Given the description of an element on the screen output the (x, y) to click on. 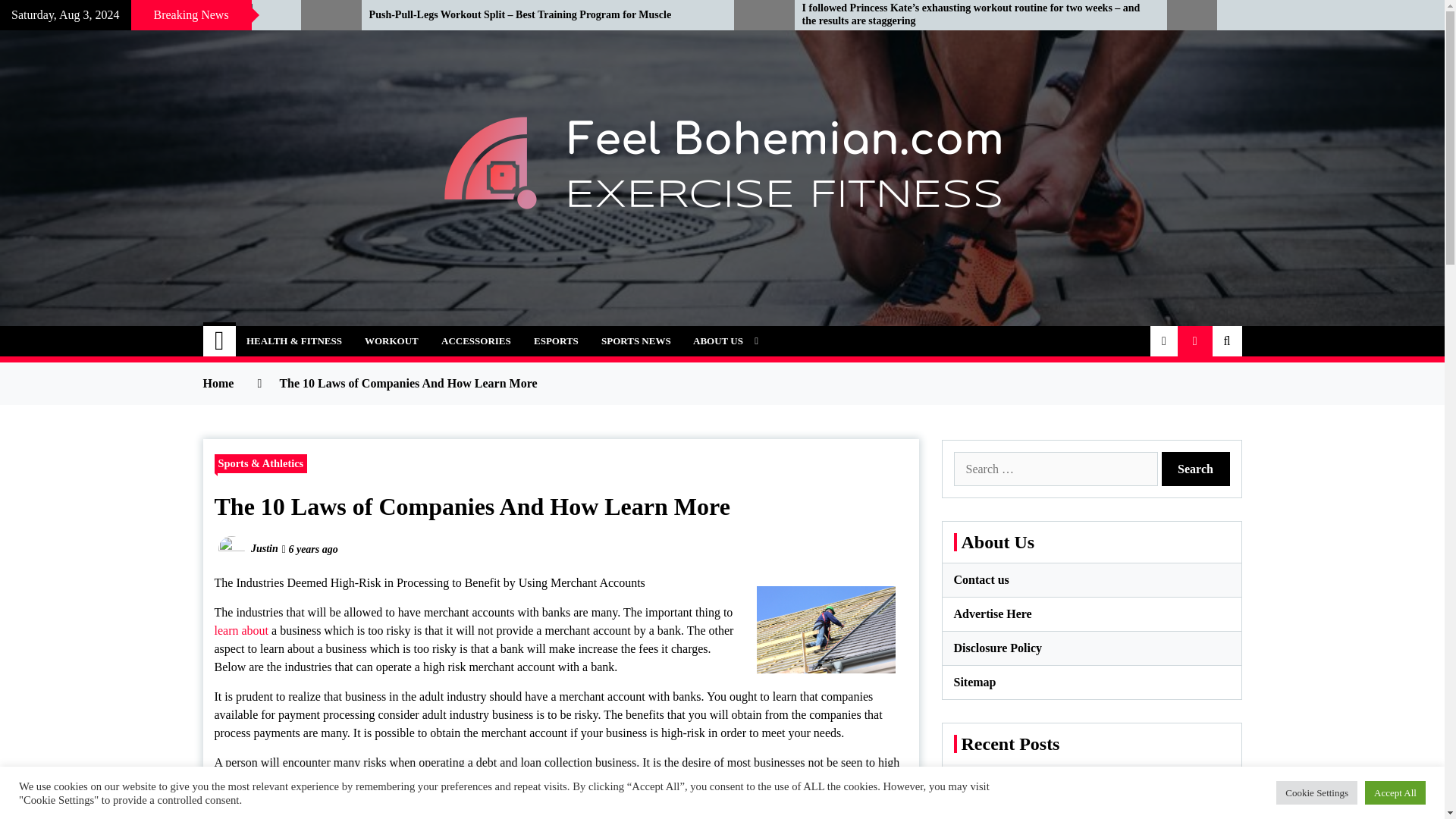
Home (219, 340)
Search (1195, 469)
Search (1195, 469)
